Given the description of an element on the screen output the (x, y) to click on. 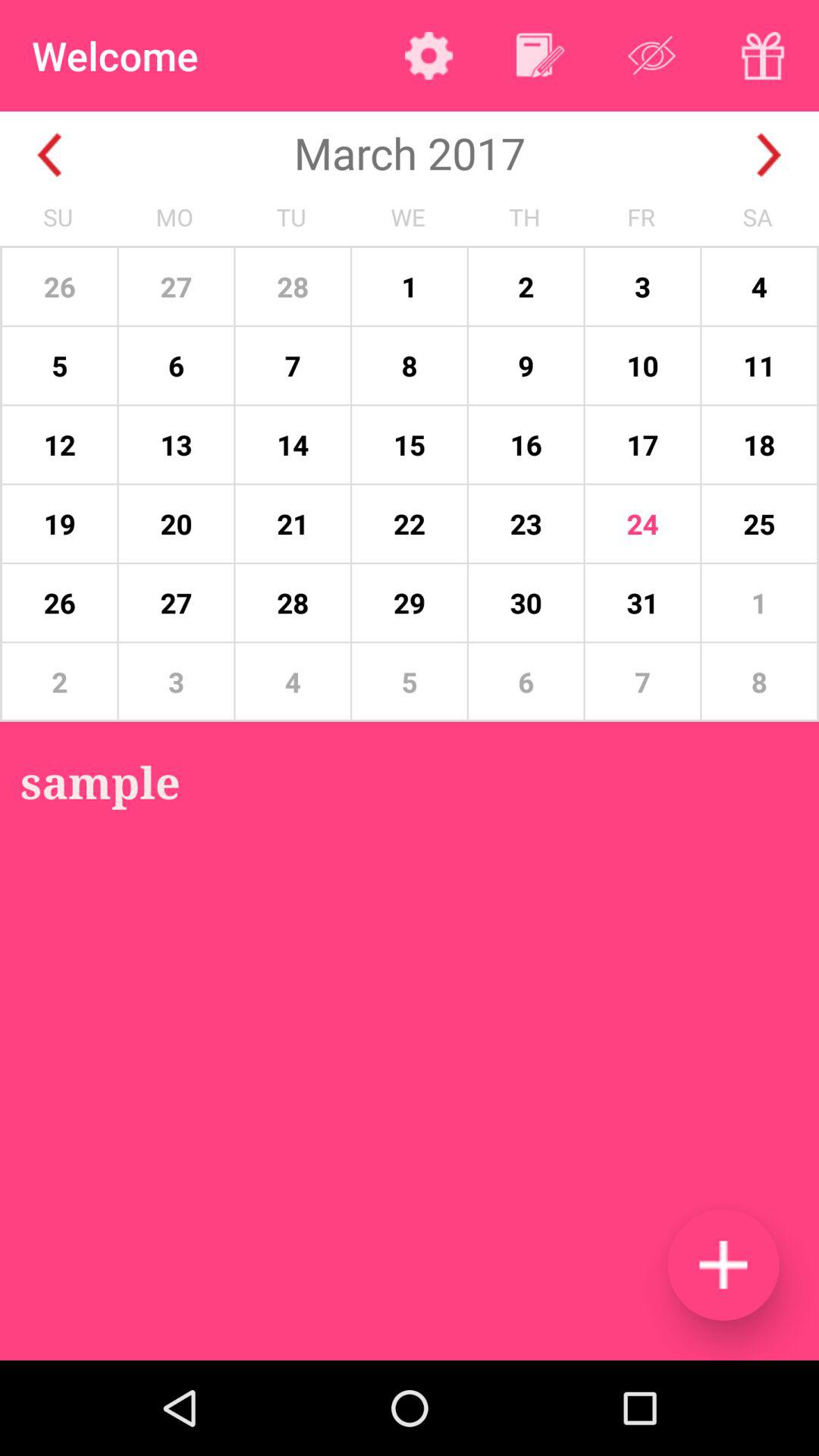
go back one month (49, 155)
